Given the description of an element on the screen output the (x, y) to click on. 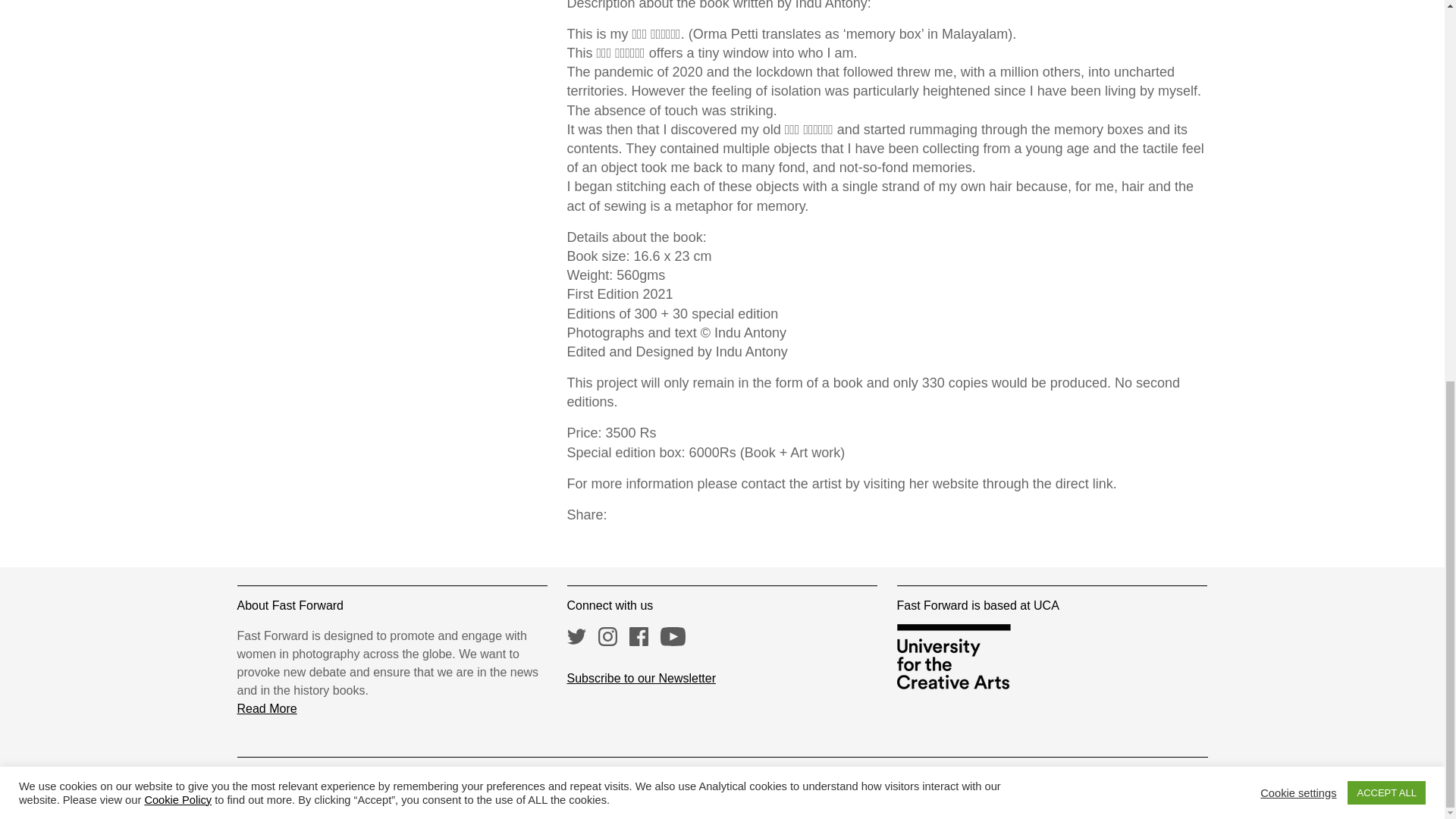
Subscribe to our Newsletter (641, 677)
ACCEPT ALL (1386, 81)
Studio Mothership (994, 781)
Cookie settings (1298, 80)
Cookie Policy (177, 87)
Read More (266, 707)
